Given the description of an element on the screen output the (x, y) to click on. 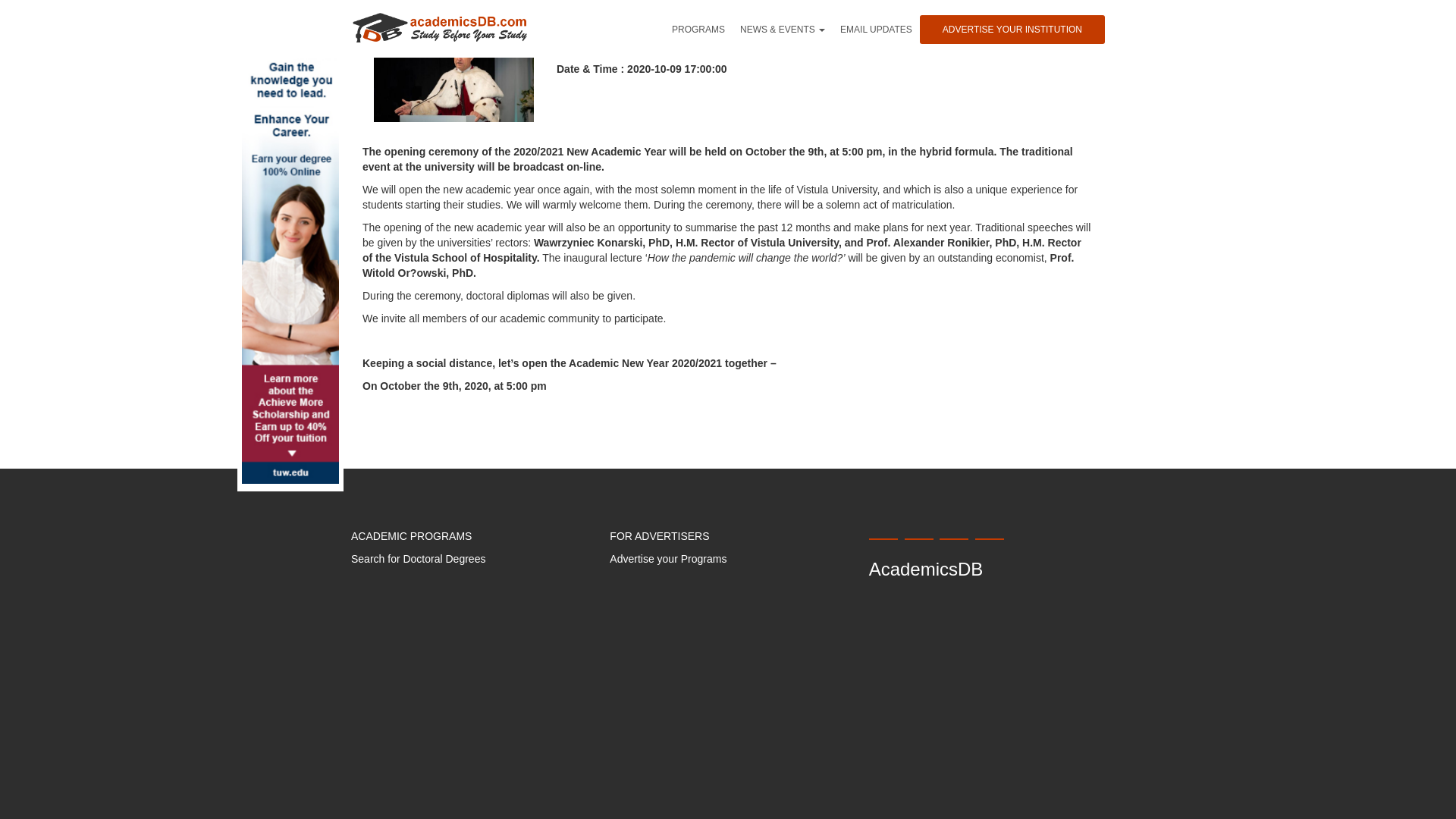
Advertise your Programs (668, 558)
Search for Doctoral Degrees (417, 558)
